Given the description of an element on the screen output the (x, y) to click on. 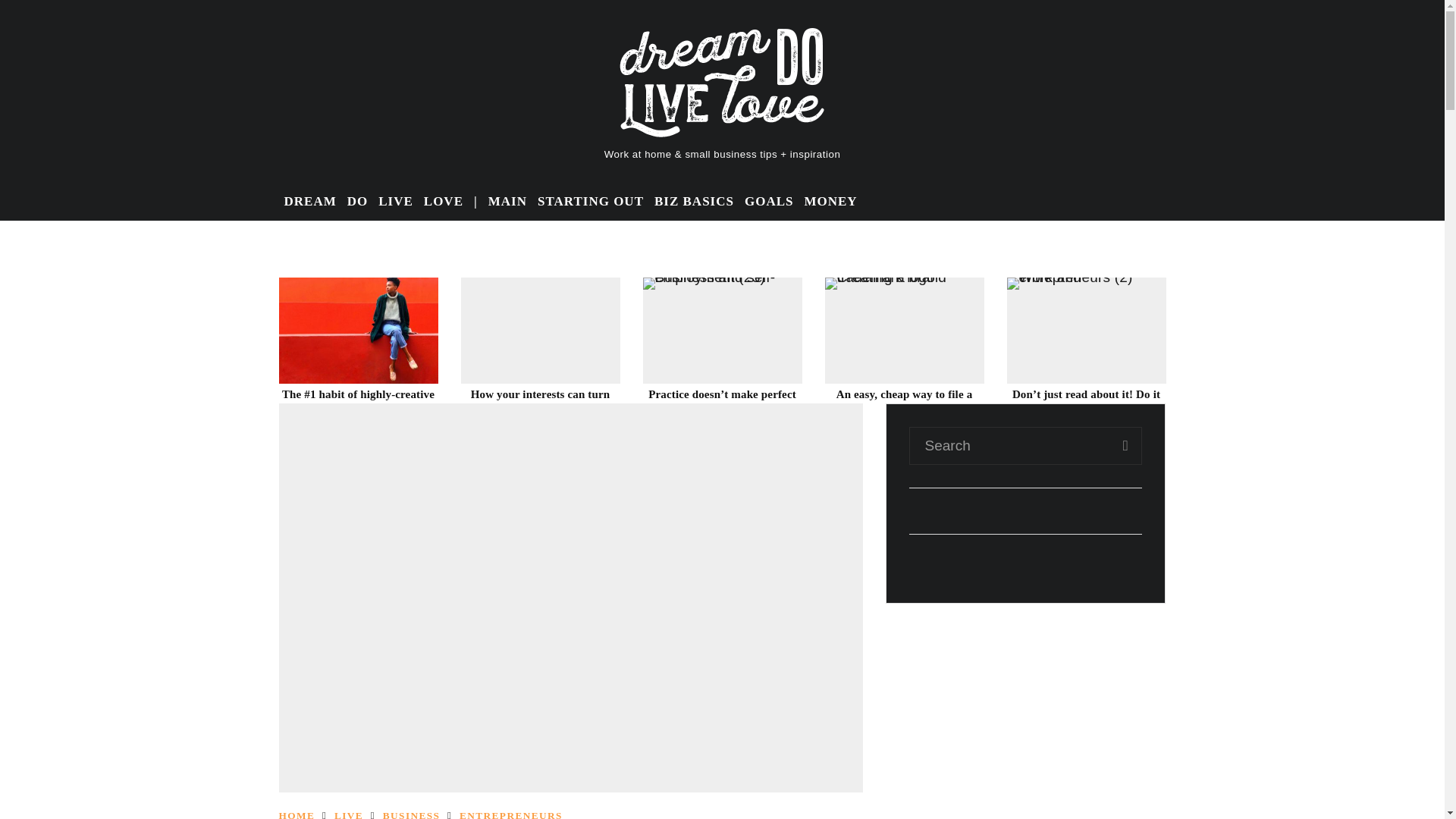
How your interests can turn into successes (540, 400)
BIZ BASICS (694, 201)
ENTREPRENEURS (511, 814)
An easy, cheap way to file a trademark (904, 400)
LOVE (443, 201)
LIVE (348, 814)
MAIN (507, 201)
LIVE (395, 201)
HOME (297, 814)
STARTING OUT (590, 201)
DREAM (310, 201)
MONEY (829, 201)
BUSINESS (411, 814)
GOALS (769, 201)
